Given the description of an element on the screen output the (x, y) to click on. 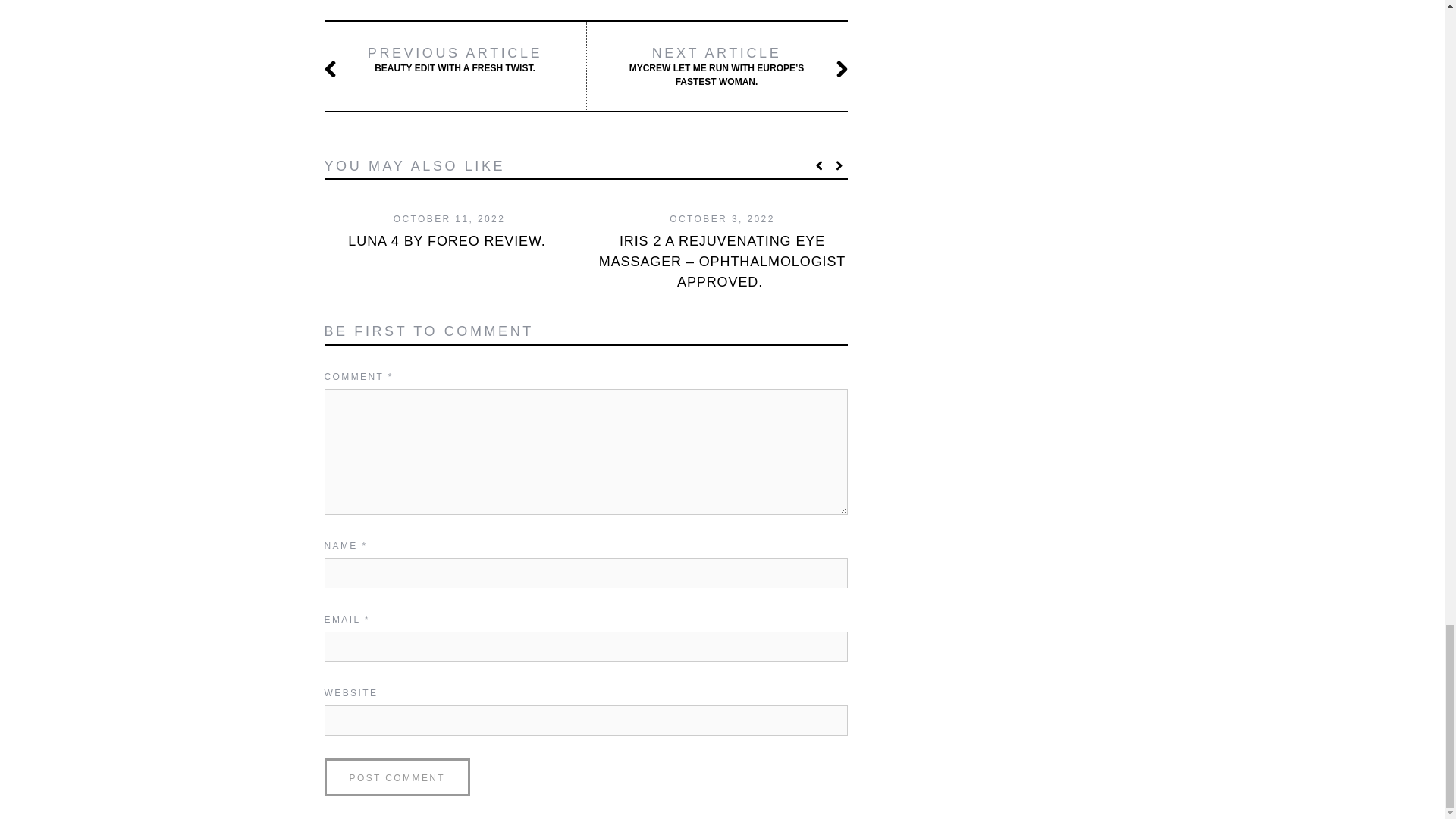
LUNA 4 BY FOREO REVIEW.  (448, 240)
Post Comment (397, 777)
